Given the description of an element on the screen output the (x, y) to click on. 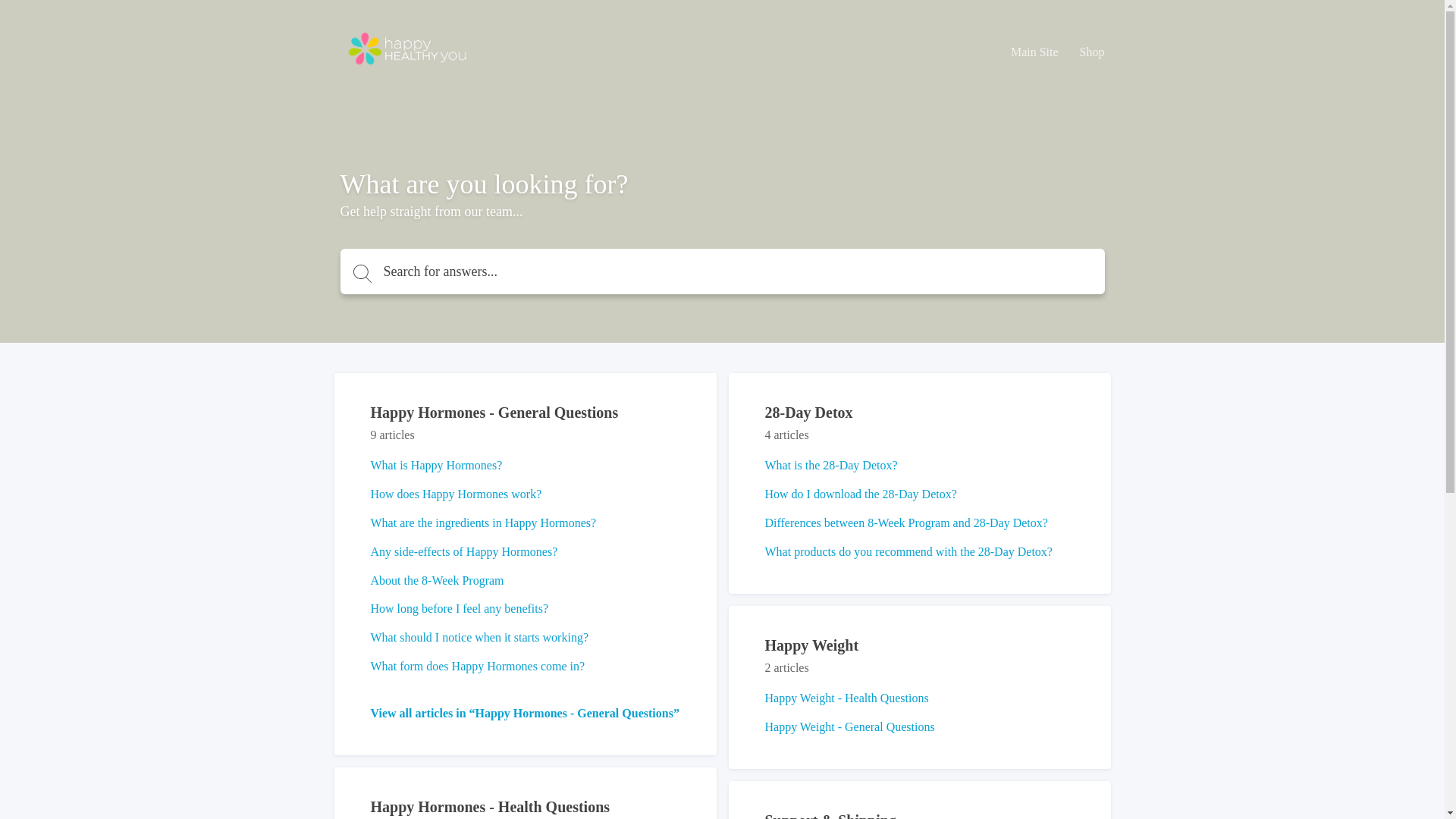
28-Day Detox Element type: text (808, 412)
What form does Happy Hormones come in? Element type: text (477, 665)
What products do you recommend with the 28-Day Detox? Element type: text (907, 551)
Differences between 8-Week Program and 28-Day Detox? Element type: text (905, 522)
Happy Weight - General Questions Element type: text (849, 726)
What are the ingredients in Happy Hormones? Element type: text (483, 522)
Happy Weight - Health Questions Element type: text (846, 697)
How do I download the 28-Day Detox? Element type: text (860, 493)
How long before I feel any benefits? Element type: text (459, 608)
What is the 28-Day Detox? Element type: text (830, 464)
What is Happy Hormones? Element type: text (436, 464)
Shop Element type: text (1091, 51)
Happy Hormones - General Questions Element type: text (494, 412)
Happy Hormones - Health Questions Element type: text (489, 806)
Main Site Element type: text (1034, 51)
About the 8-Week Program Element type: text (436, 580)
What should I notice when it starts working? Element type: text (479, 636)
How does Happy Hormones work? Element type: text (455, 493)
Any side-effects of Happy Hormones? Element type: text (463, 551)
Happy Weight Element type: text (811, 645)
